Given the description of an element on the screen output the (x, y) to click on. 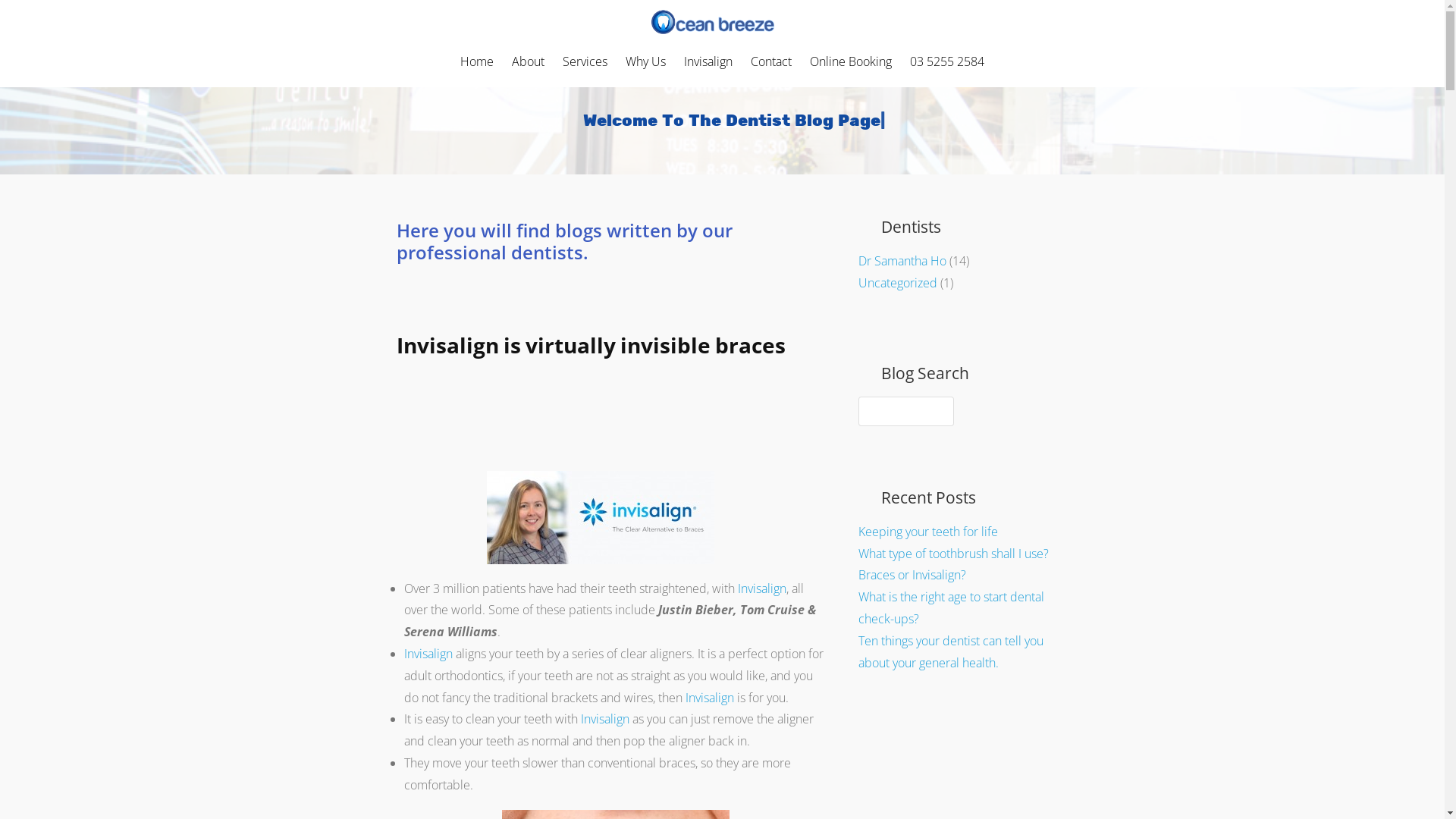
Uncategorized Element type: text (897, 282)
Invisalign Element type: text (761, 588)
About Element type: text (528, 61)
Invisalign Element type: text (606, 718)
03 5255 2584 Element type: text (946, 61)
Why Us Element type: text (645, 61)
Search for: Element type: hover (905, 411)
Invisalign is virtually invisible braces Element type: text (589, 344)
Invisalign Element type: text (711, 697)
Braces or Invisalign? Element type: text (912, 574)
Invisalign Element type: text (429, 653)
Invisalign Element type: text (708, 61)
Search Element type: text (32, 15)
Dr Samantha Ho Element type: text (902, 260)
Keeping your teeth for life Element type: text (927, 531)
Contact Element type: text (771, 61)
What type of toothbrush shall I use? Element type: text (953, 553)
Home Element type: text (476, 61)
Services Element type: text (585, 61)
Online Booking Element type: text (850, 61)
What is the right age to start dental check-ups? Element type: text (951, 607)
